Given the description of an element on the screen output the (x, y) to click on. 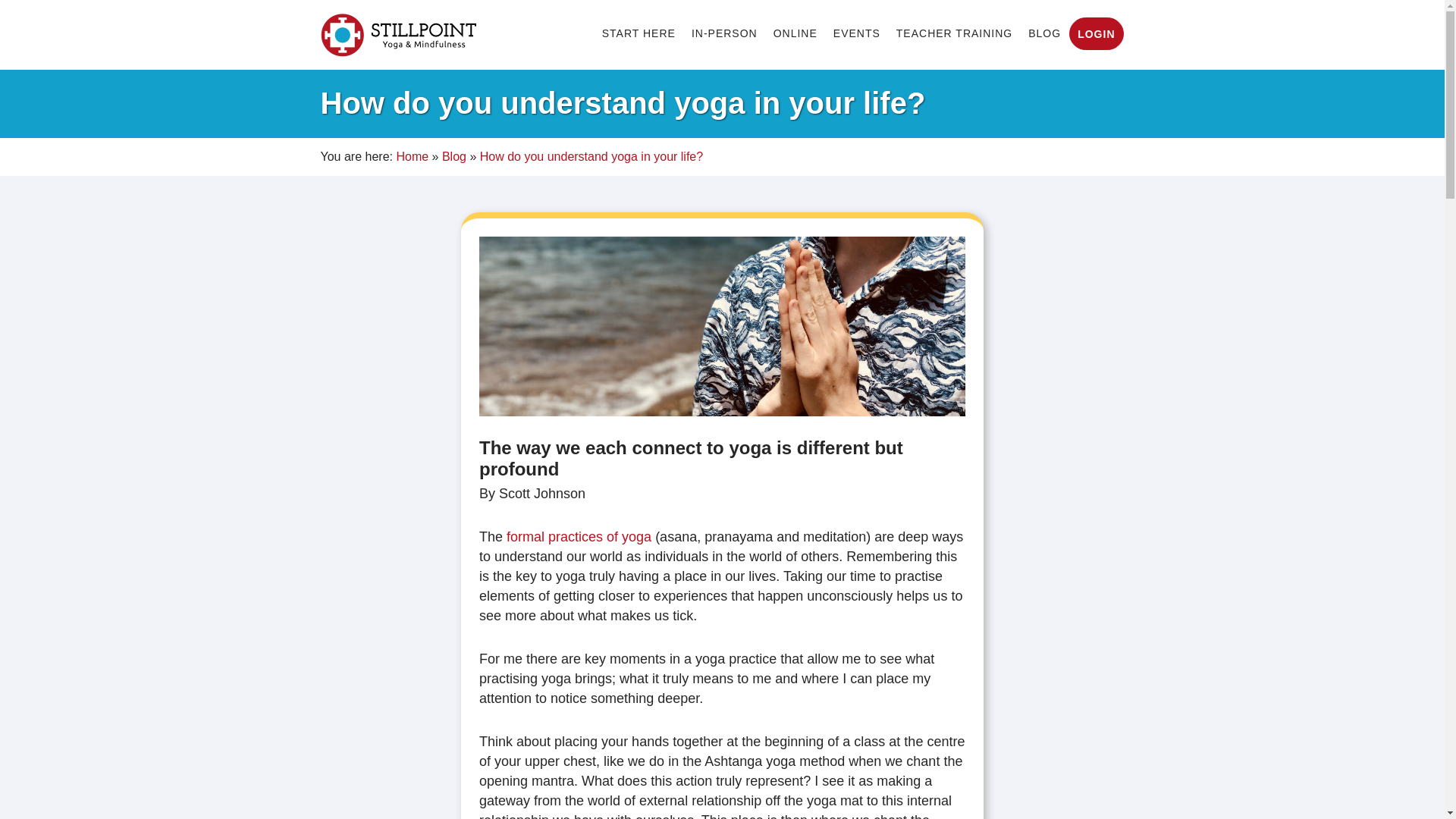
Stillpoint Yoga Homepage (398, 36)
TEACHER TRAINING (953, 33)
Home (412, 155)
formal practices of yoga (578, 536)
ONLINE (794, 33)
LOGIN (1096, 33)
How do you understand yoga in your life? (591, 155)
BLOG (1044, 33)
START HERE (638, 33)
IN-PERSON (724, 33)
Blog (453, 155)
How do you understand yoga in your life? (722, 326)
EVENTS (856, 33)
